Given the description of an element on the screen output the (x, y) to click on. 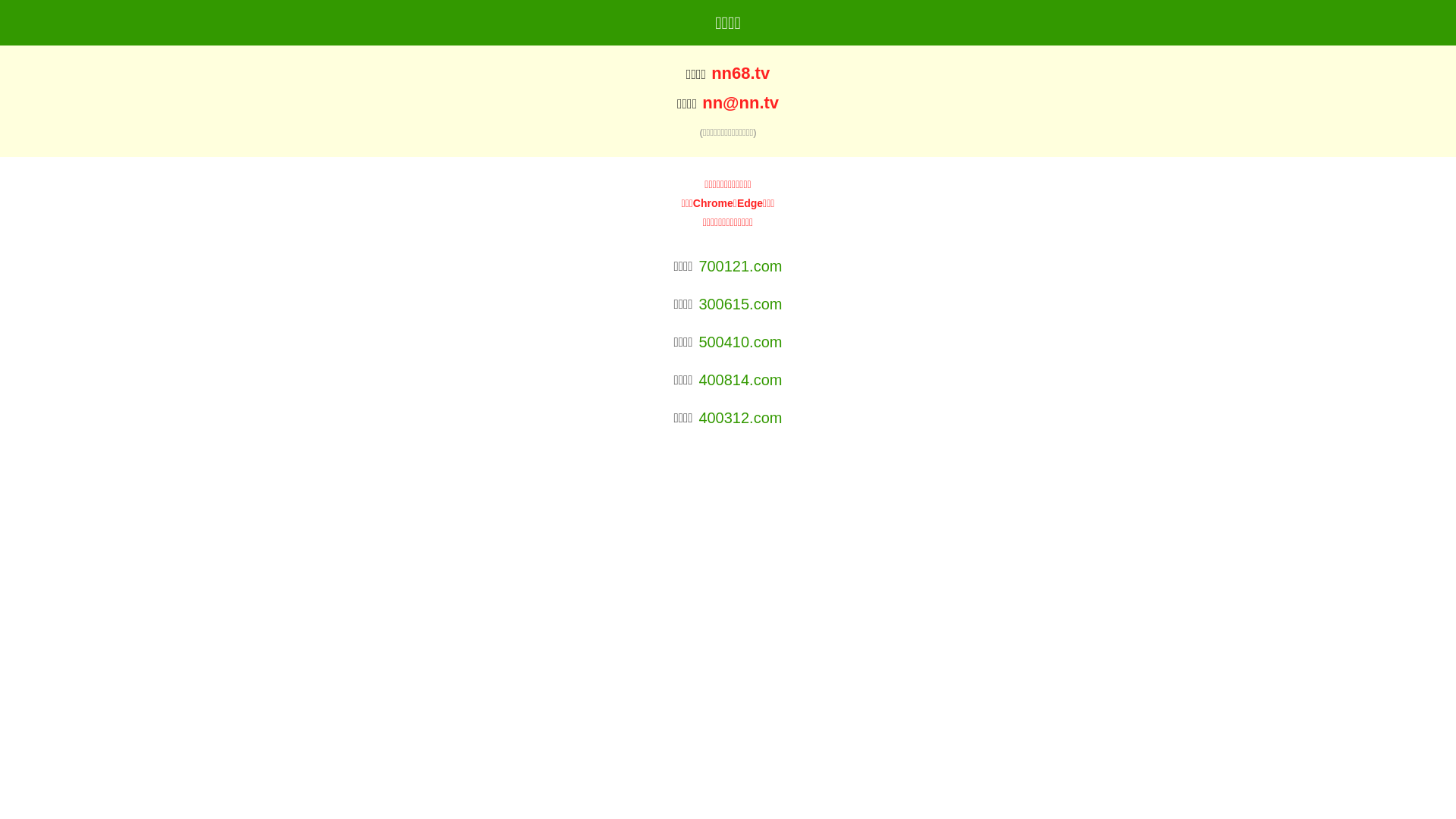
500410.com Element type: text (739, 341)
400814.com Element type: text (739, 379)
300615.com Element type: text (739, 303)
400312.com Element type: text (739, 417)
700121.com Element type: text (739, 265)
